Given the description of an element on the screen output the (x, y) to click on. 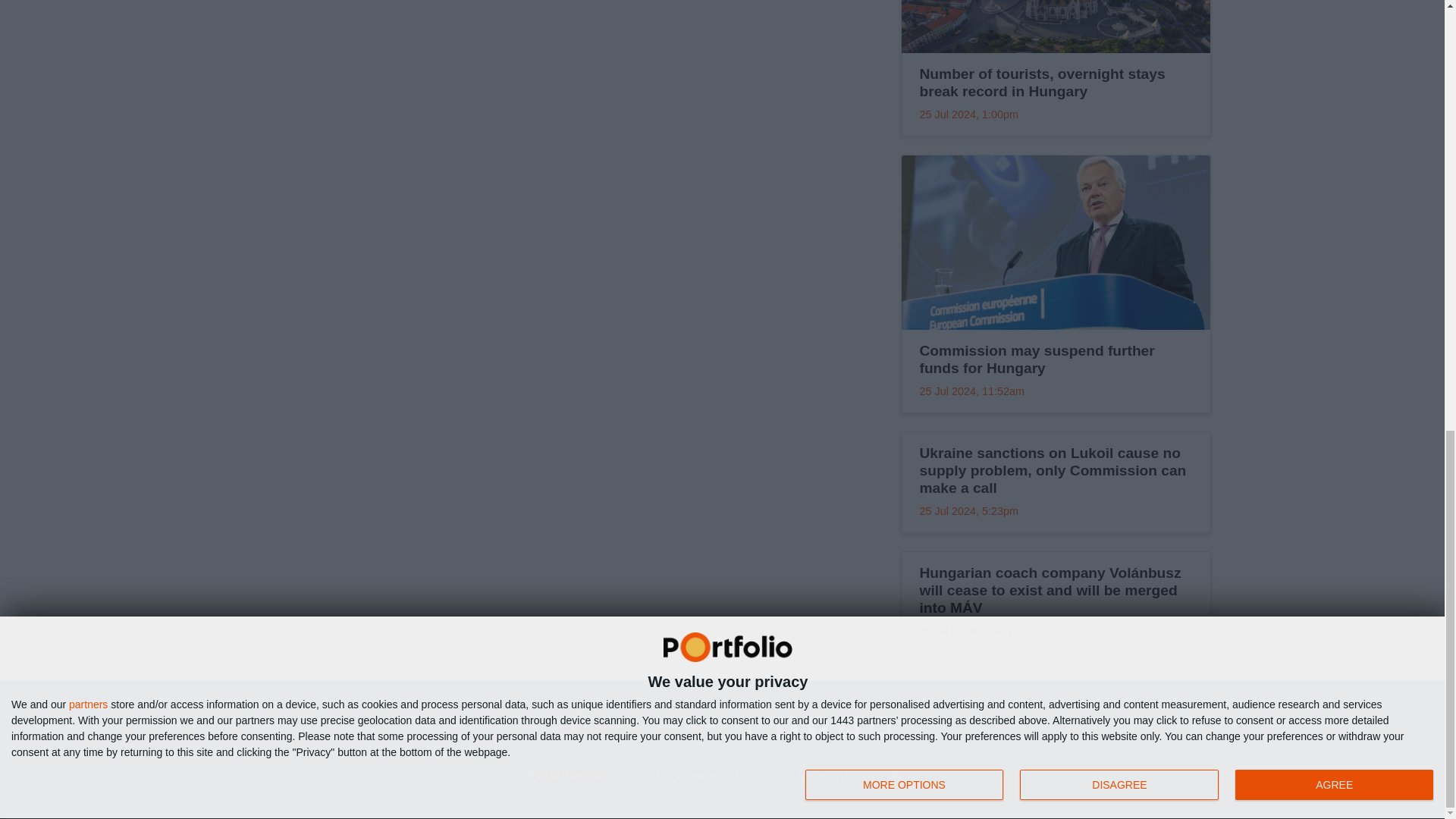
Twitter (786, 726)
E-mail (879, 726)
Facebook (818, 726)
RSS (848, 726)
